Given the description of an element on the screen output the (x, y) to click on. 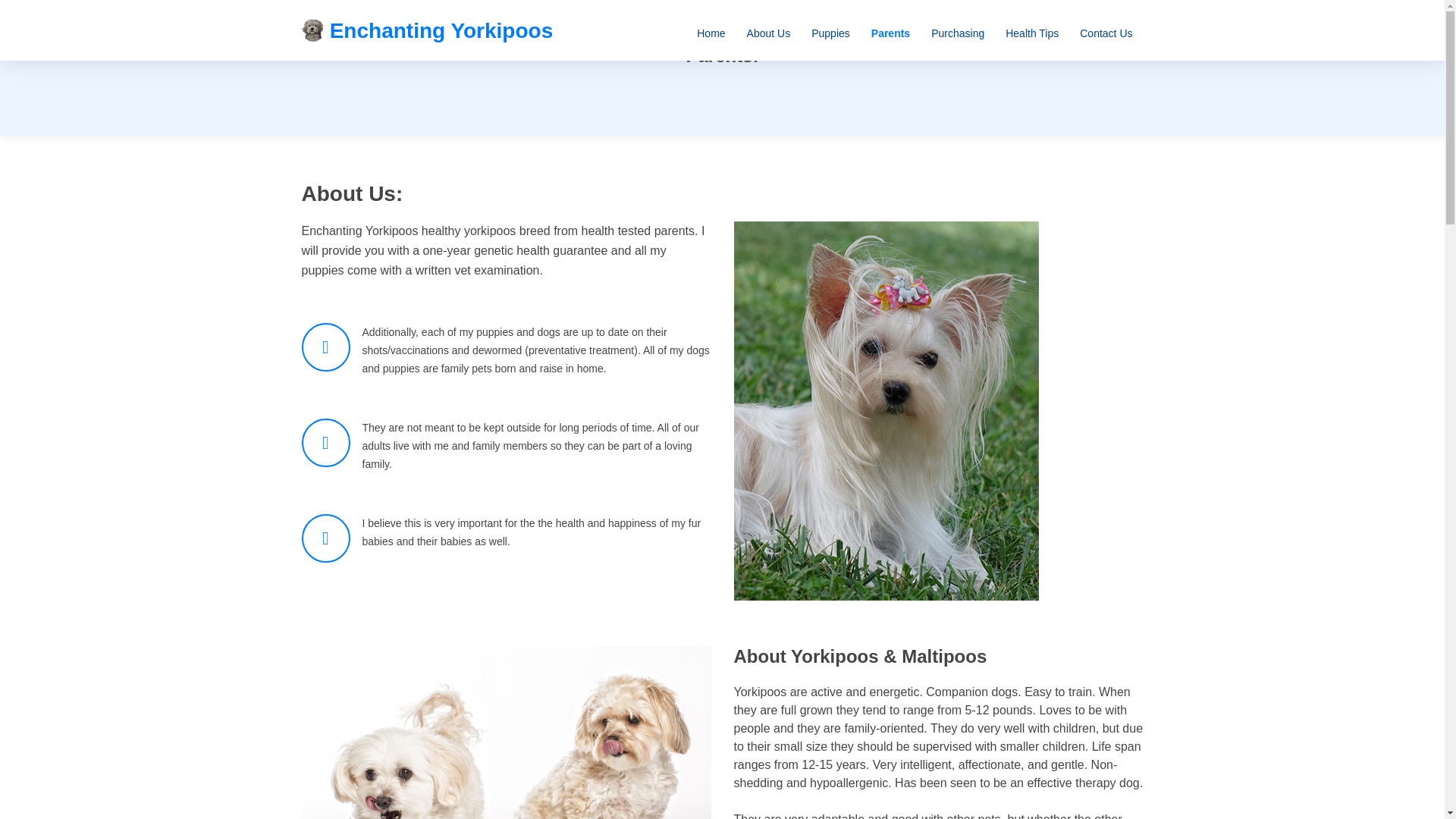
Contact Us (1105, 33)
Home (710, 33)
About Us (769, 33)
Health Tips (1031, 33)
Purchasing (957, 33)
Enchanting Yorkipoos (427, 30)
Parents (890, 33)
Enchanting Yorkipoos (427, 30)
Puppies (830, 33)
